Given the description of an element on the screen output the (x, y) to click on. 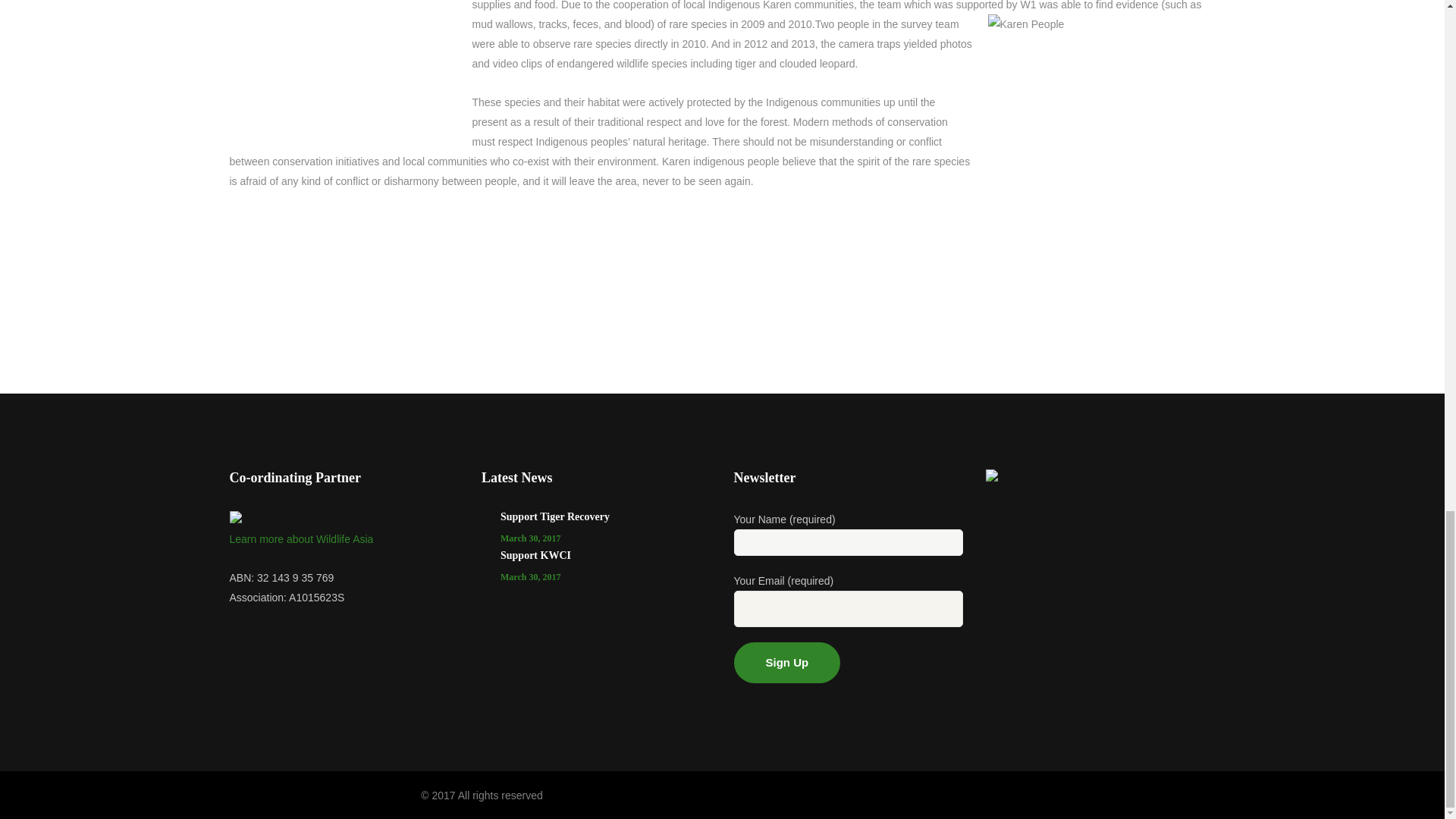
Sign Up (787, 662)
